Given the description of an element on the screen output the (x, y) to click on. 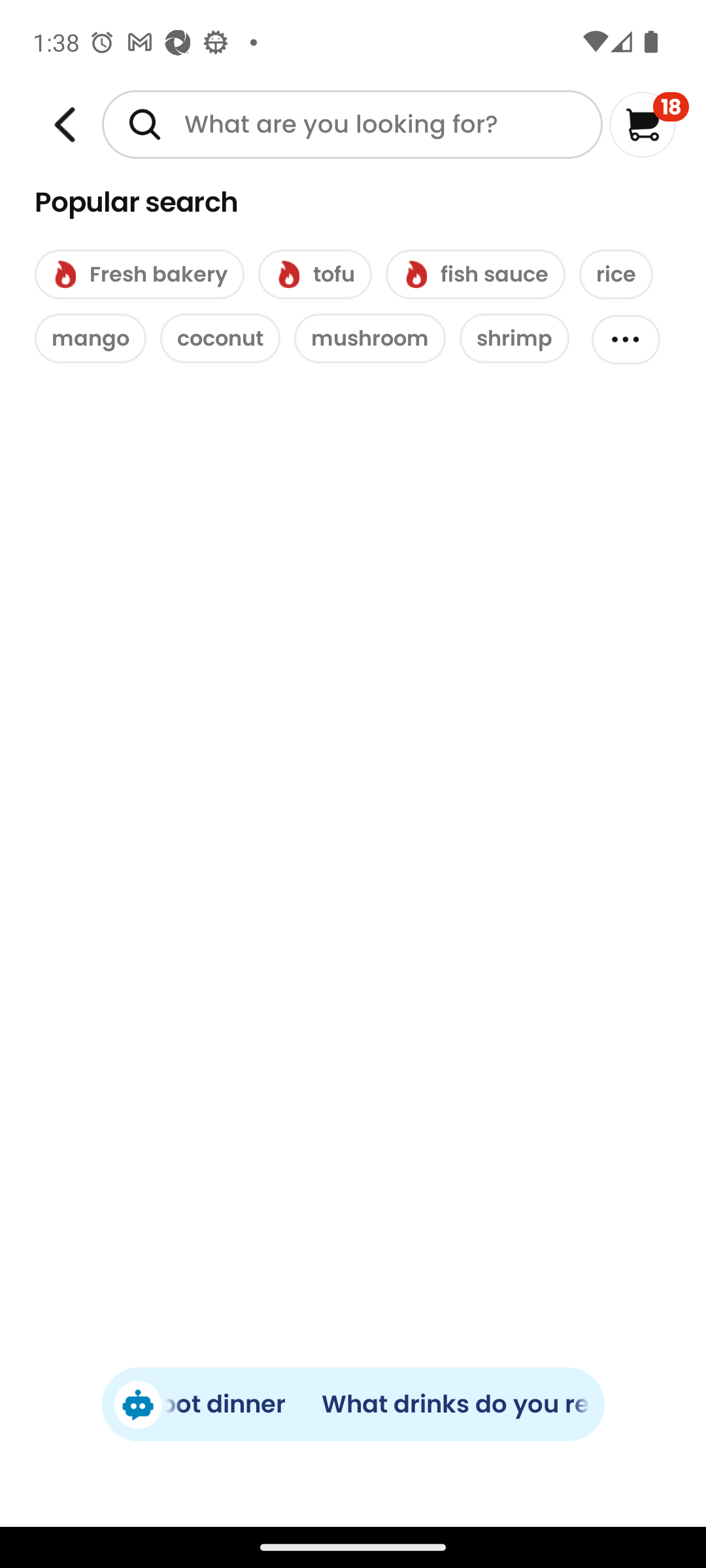
What are you looking for? (351, 124)
18 (649, 124)
Fresh bakery (139, 274)
tofu (315, 274)
fish sauce (475, 274)
rice (615, 274)
mango (90, 338)
coconut (220, 338)
mushroom (369, 338)
shrimp (514, 338)
